Given the description of an element on the screen output the (x, y) to click on. 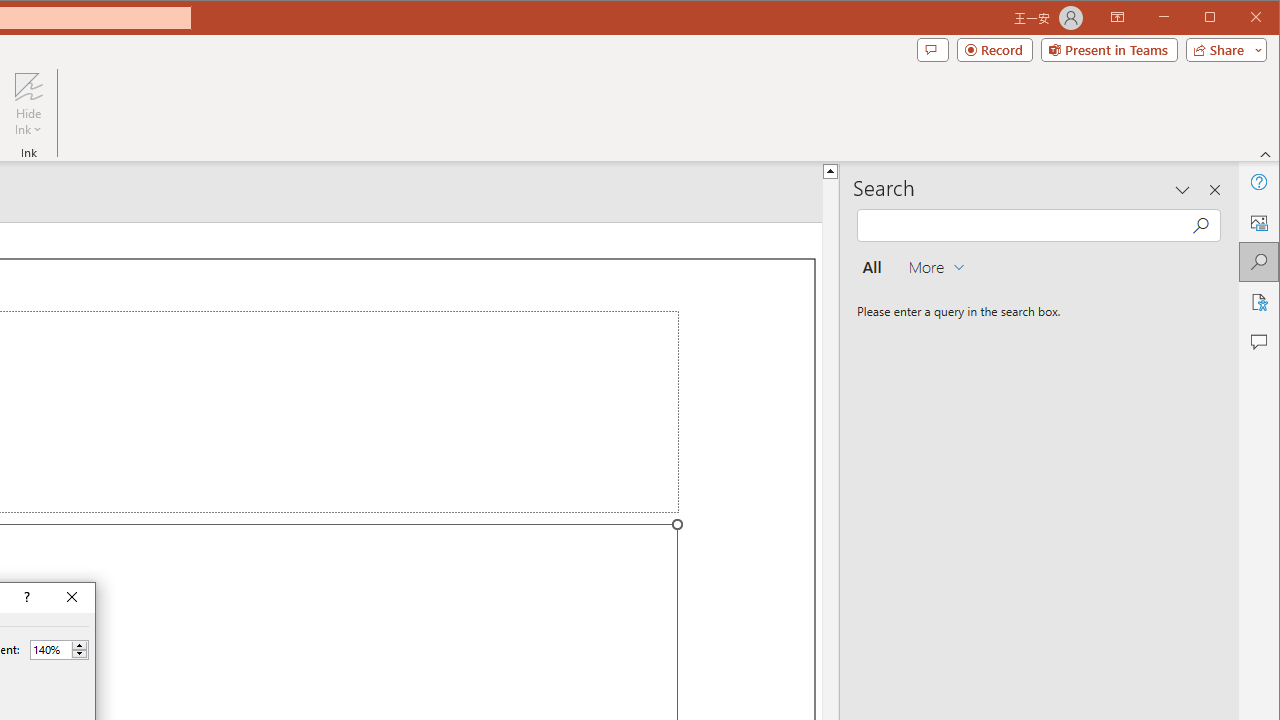
Percent (50, 649)
